Given the description of an element on the screen output the (x, y) to click on. 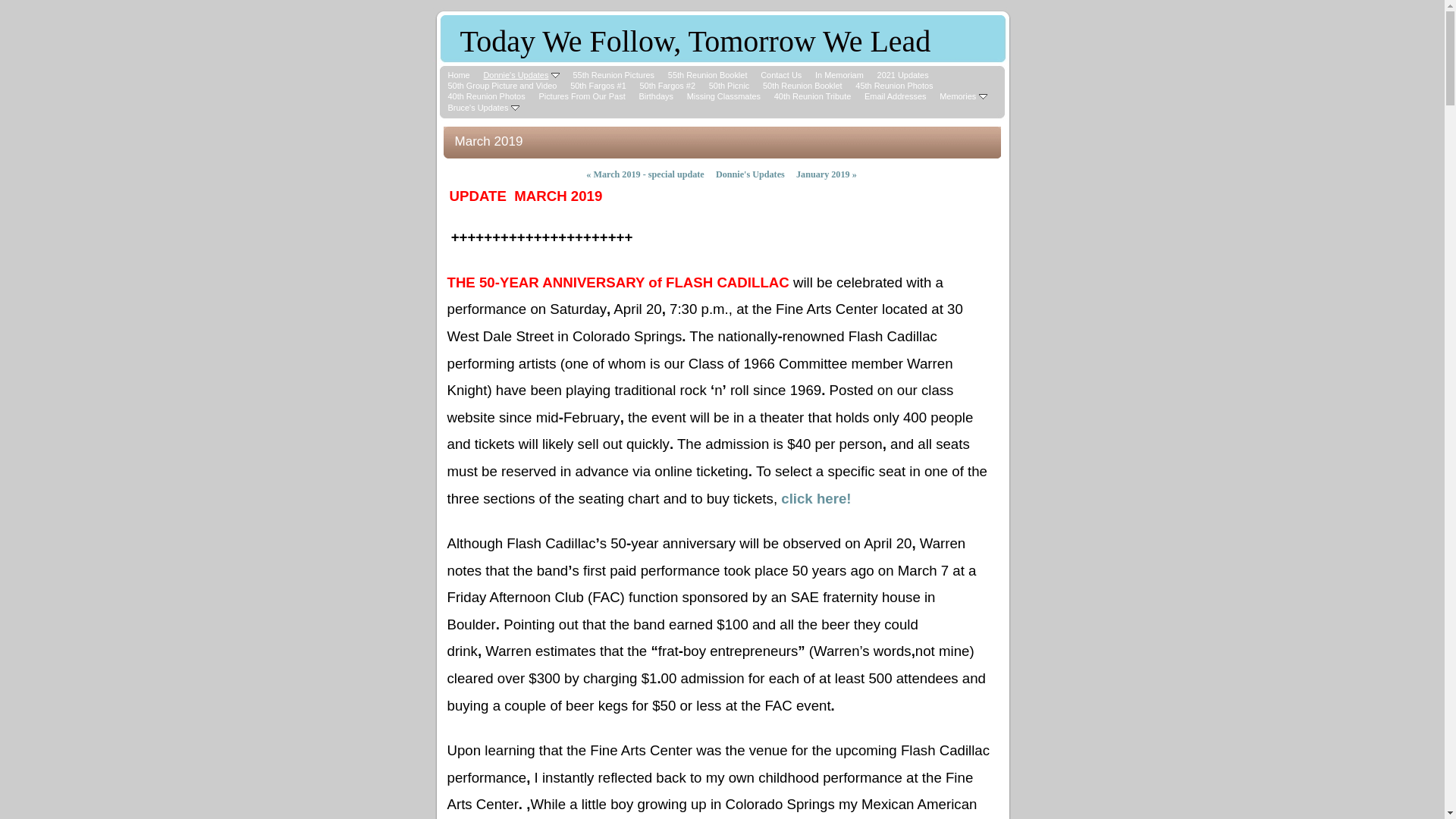
55th Reunion Booklet Element type: text (707, 74)
Memories Element type: text (962, 95)
40th Reunion Photos Element type: text (485, 95)
Bruce's Updates Element type: text (482, 107)
50th Fargos #1 Element type: text (598, 85)
50th Picnic Element type: text (729, 85)
Missing Classmates Element type: text (723, 95)
Pictures From Our Past Element type: text (581, 95)
Donnie's Updates Element type: text (749, 174)
40th Reunion Tribute Element type: text (812, 95)
Home Element type: text (458, 74)
Contact Us Element type: text (780, 74)
50th Group Picture and Video Element type: text (501, 85)
click here! Element type: text (815, 496)
2021 Updates Element type: text (902, 74)
Donnie's Updates Element type: text (520, 74)
Birthdays Element type: text (655, 95)
55th Reunion Pictures Element type: text (613, 74)
50th Fargos #2 Element type: text (667, 85)
Today We Follow, Tomorrow We Lead Element type: text (694, 44)
Email Addresses Element type: text (894, 95)
50th Reunion Booklet Element type: text (802, 85)
45th Reunion Photos Element type: text (893, 85)
In Memoriam Element type: text (839, 74)
